Given the description of an element on the screen output the (x, y) to click on. 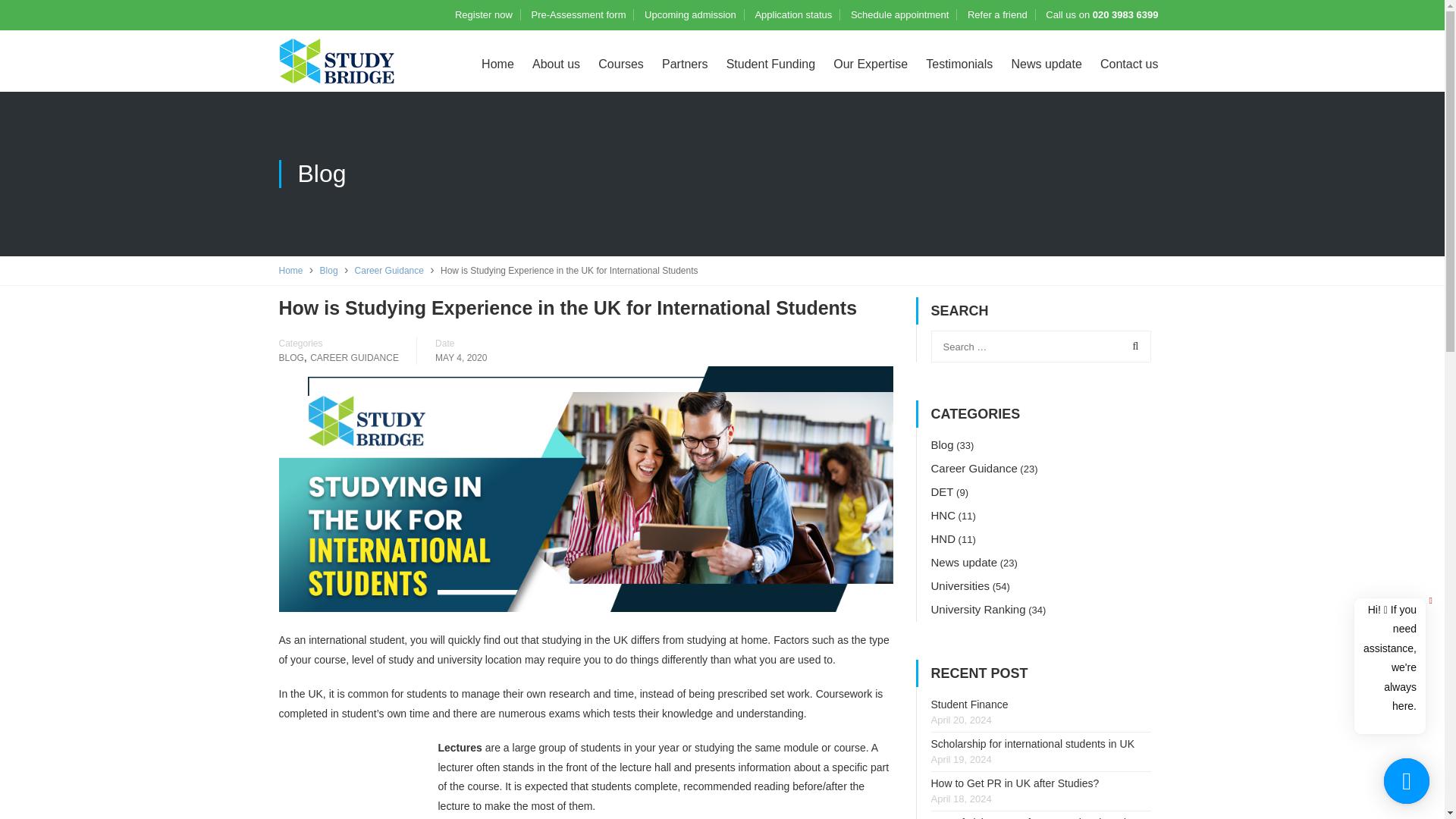
Contact us (1129, 64)
Refer a friend (997, 14)
Search (1132, 346)
Application status (792, 14)
Upcoming admission (690, 14)
Schedule appointment (899, 14)
Pre-Assessment form (578, 14)
Search (1132, 346)
Courses (620, 64)
Home (290, 270)
